Given the description of an element on the screen output the (x, y) to click on. 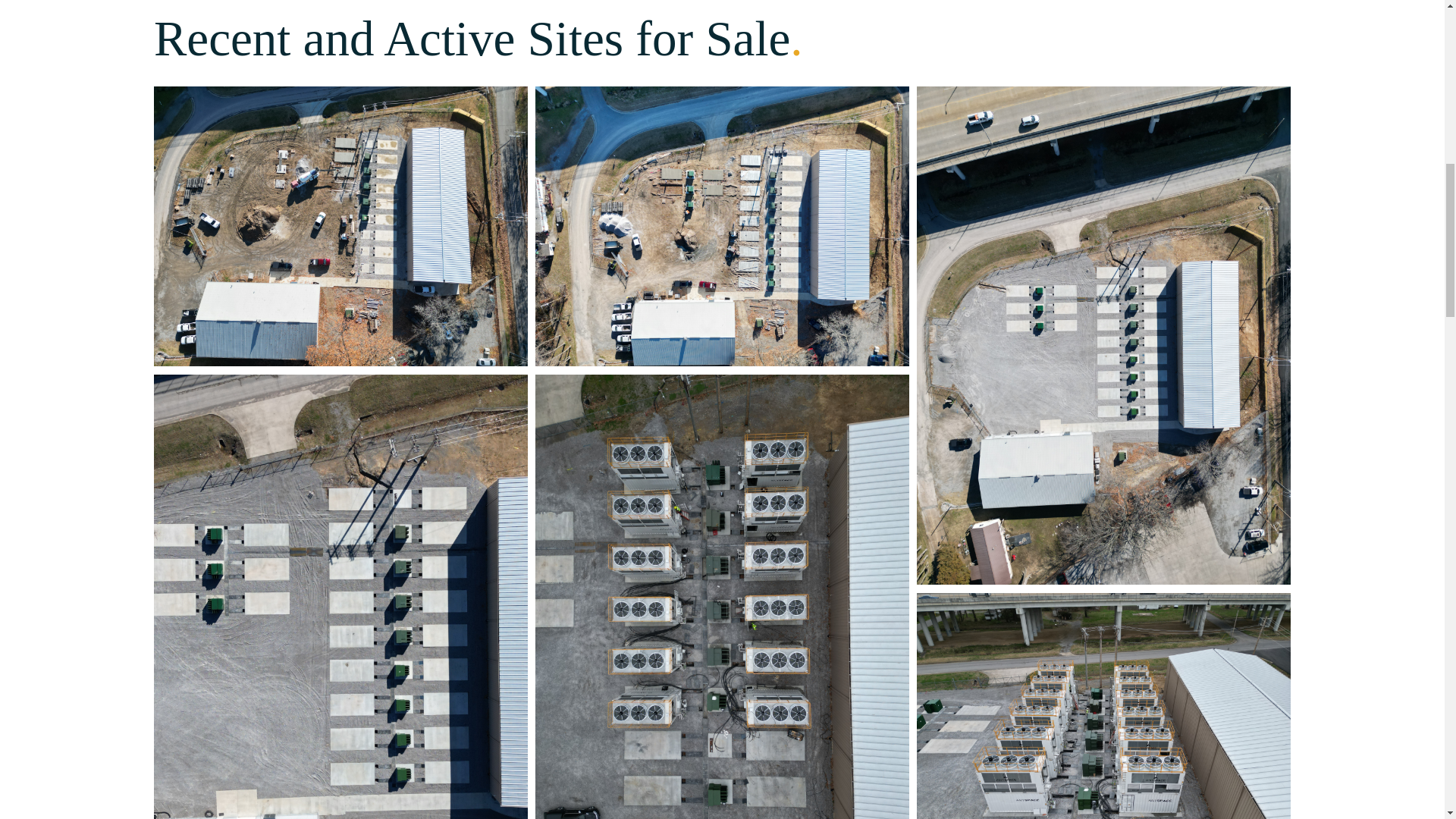
SOLminer Cryptocurrency Mining Farms for Sale (340, 226)
SOLminer Cryptocurrency Mining Farms (721, 226)
SOLminer Recent Cryptocurrency Mining Farms for Sale (1103, 705)
